Given the description of an element on the screen output the (x, y) to click on. 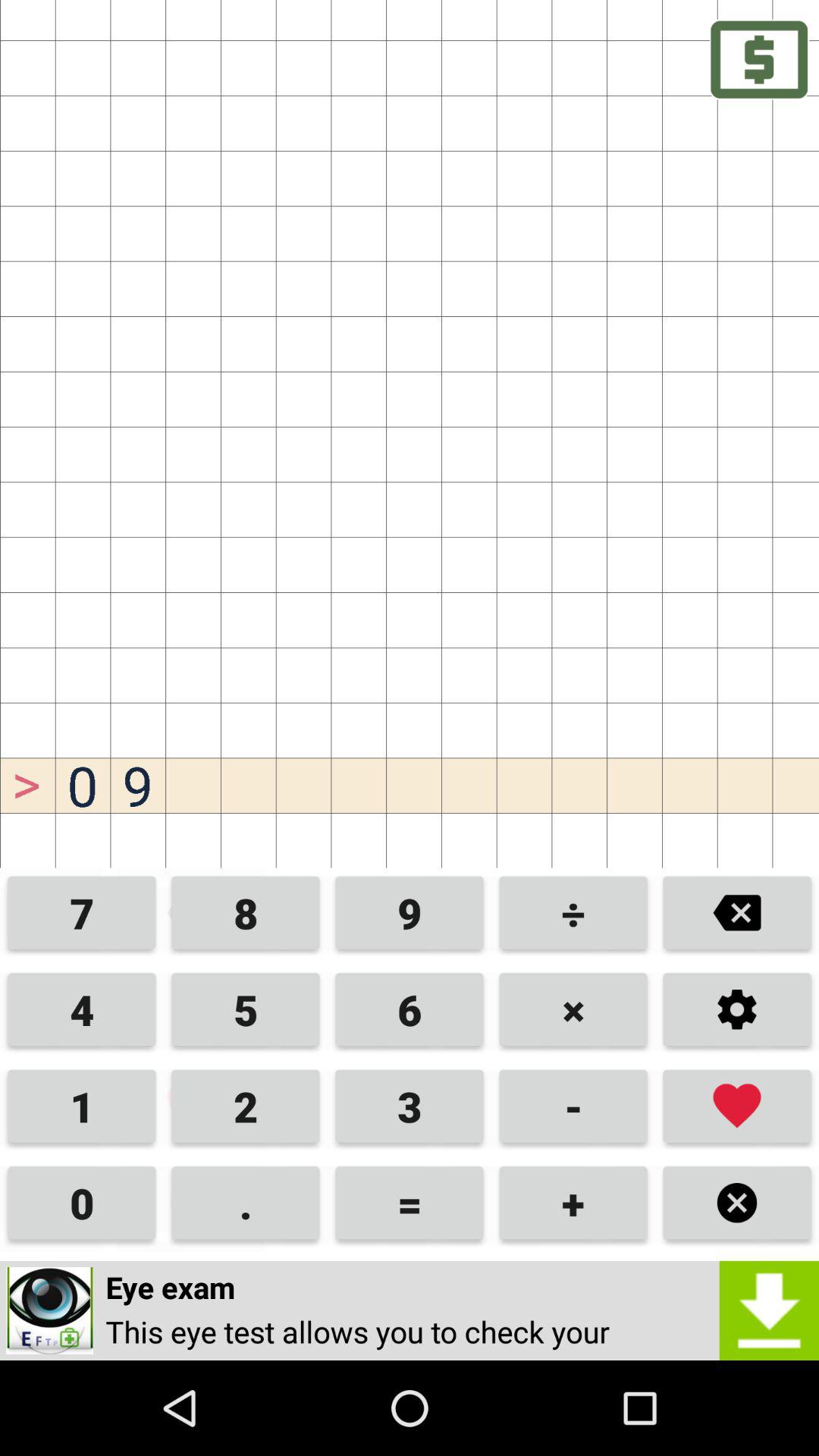
close screen (737, 1202)
